Given the description of an element on the screen output the (x, y) to click on. 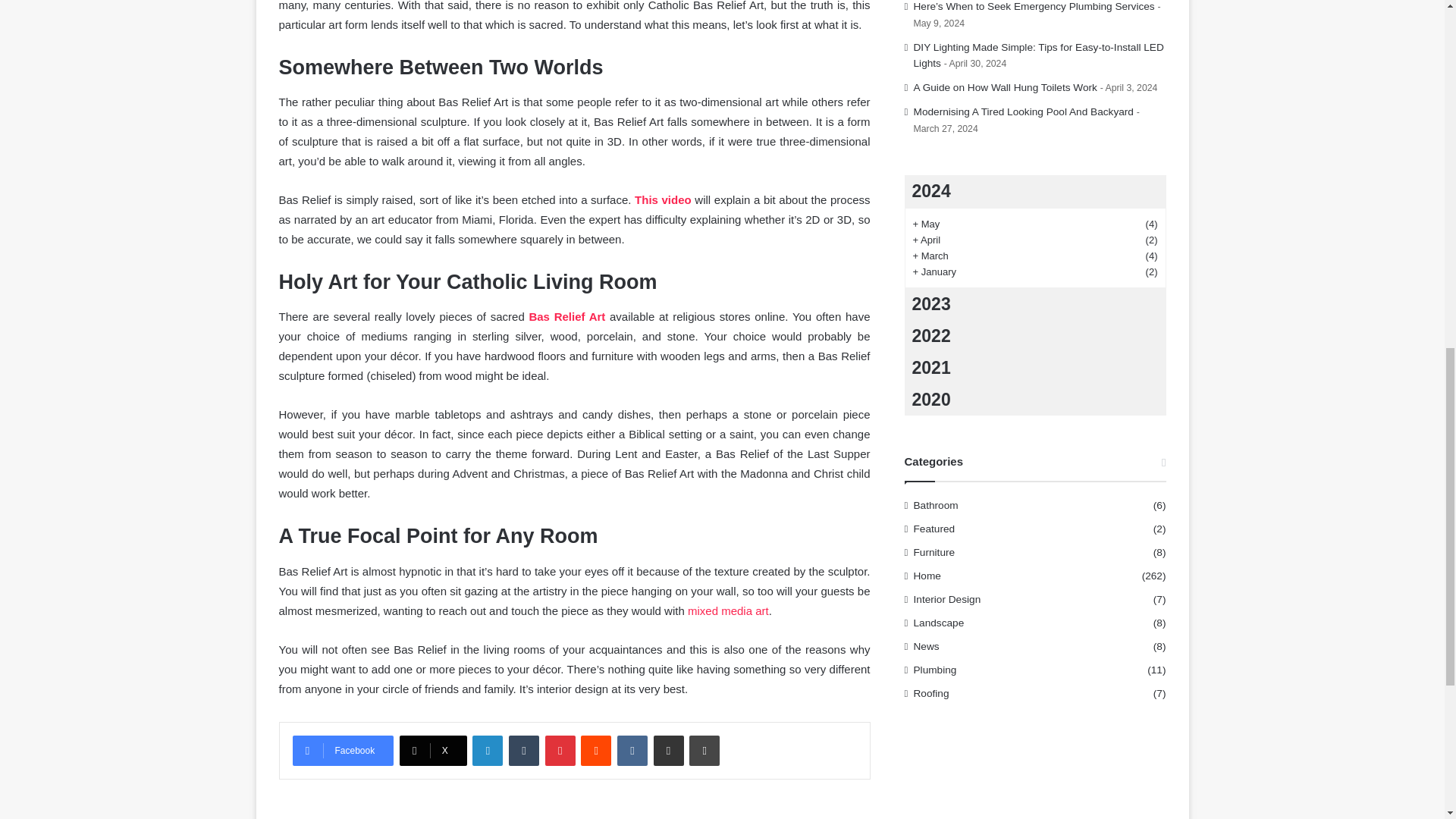
Tumblr (523, 750)
X (432, 750)
Reddit (595, 750)
This video (662, 199)
X (432, 750)
Reddit (595, 750)
Bas Relief Art (566, 316)
Tumblr (523, 750)
LinkedIn (486, 750)
Share via Email (668, 750)
Share via Email (668, 750)
Print (703, 750)
Pinterest (559, 750)
mixed media art (727, 610)
Facebook (343, 750)
